Given the description of an element on the screen output the (x, y) to click on. 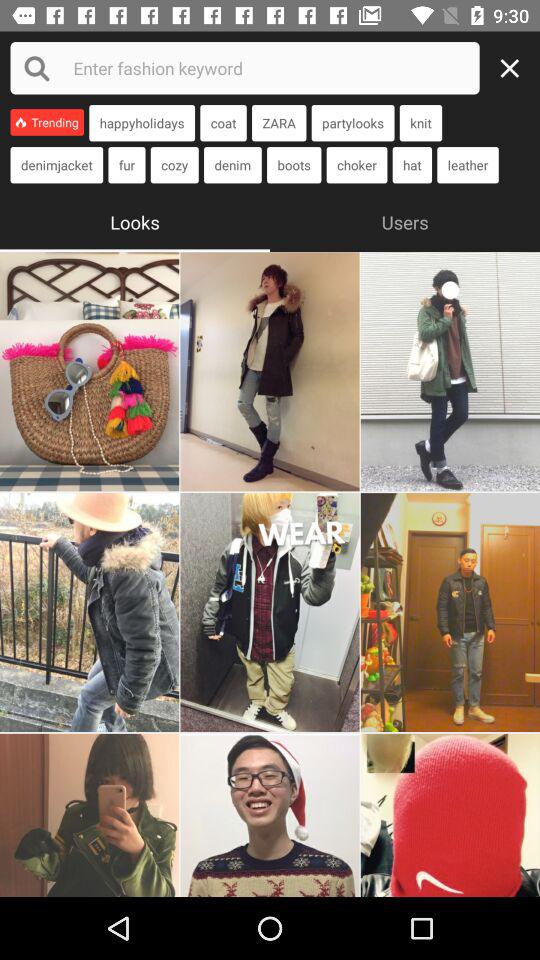
wear fashion lookbook (450, 371)
